Given the description of an element on the screen output the (x, y) to click on. 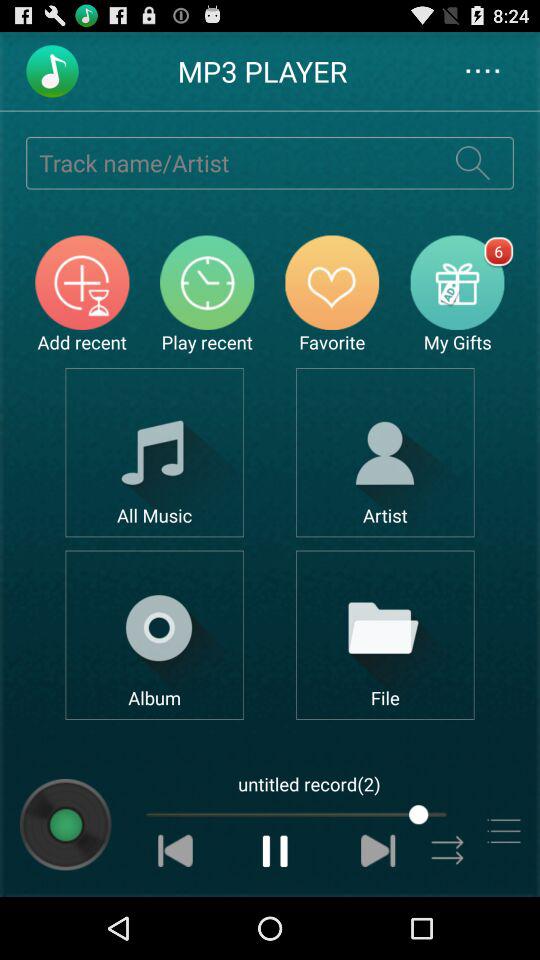
open playlist (503, 830)
